Given the description of an element on the screen output the (x, y) to click on. 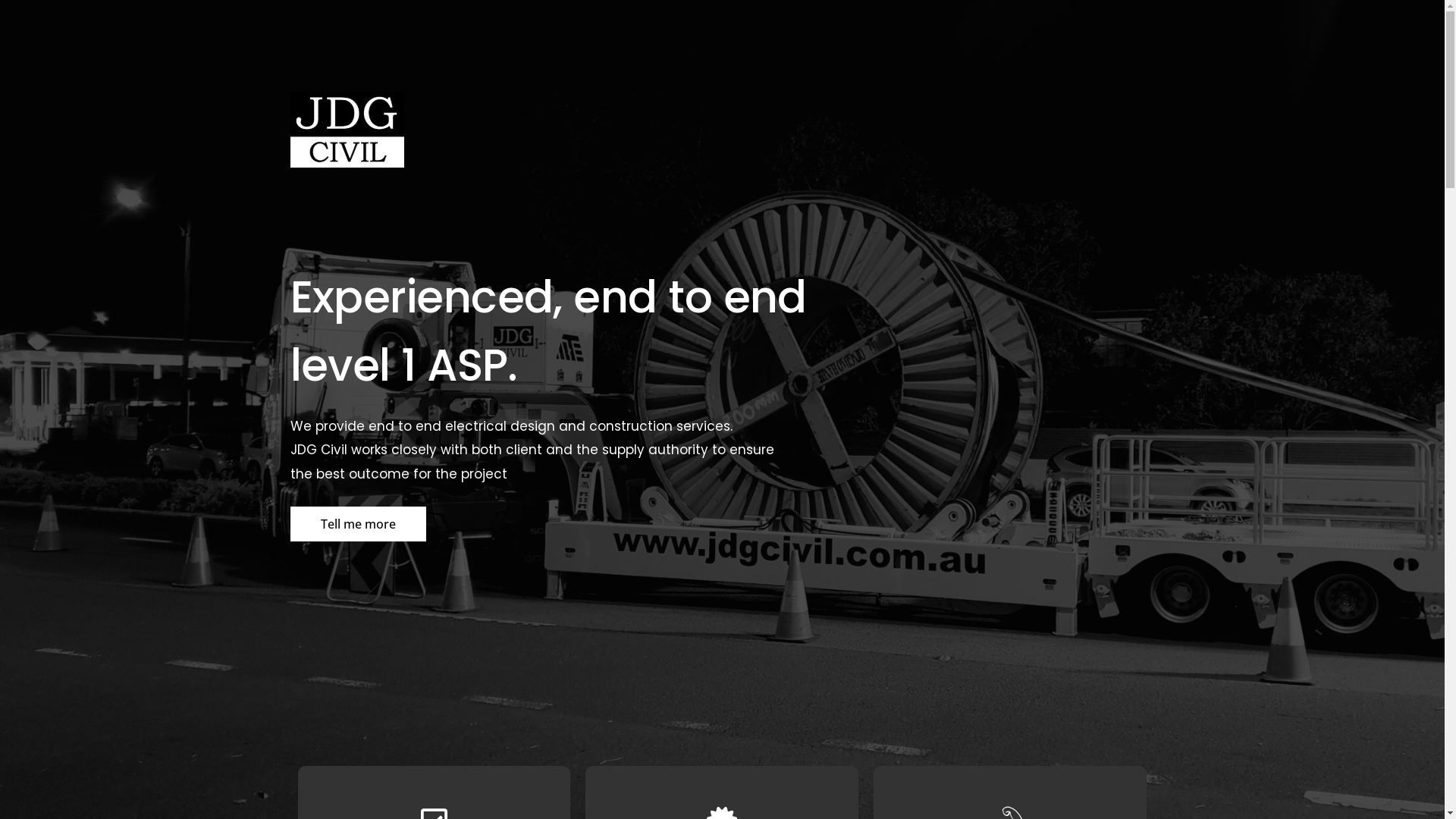
JDG Civil Logo copy Element type: hover (346, 129)
Tell me more Element type: text (357, 523)
